Given the description of an element on the screen output the (x, y) to click on. 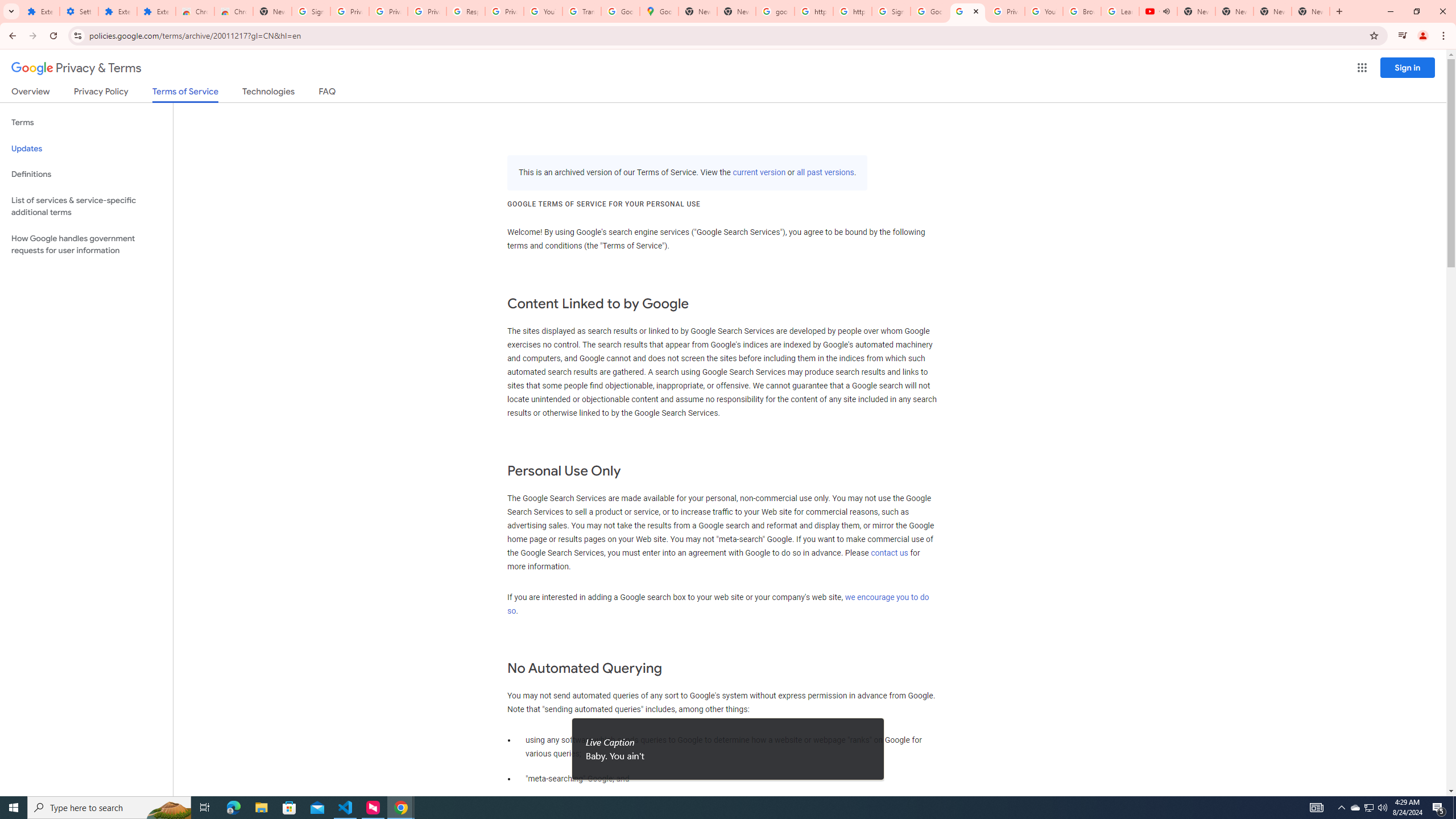
current version (759, 172)
Extensions (40, 11)
